Given the description of an element on the screen output the (x, y) to click on. 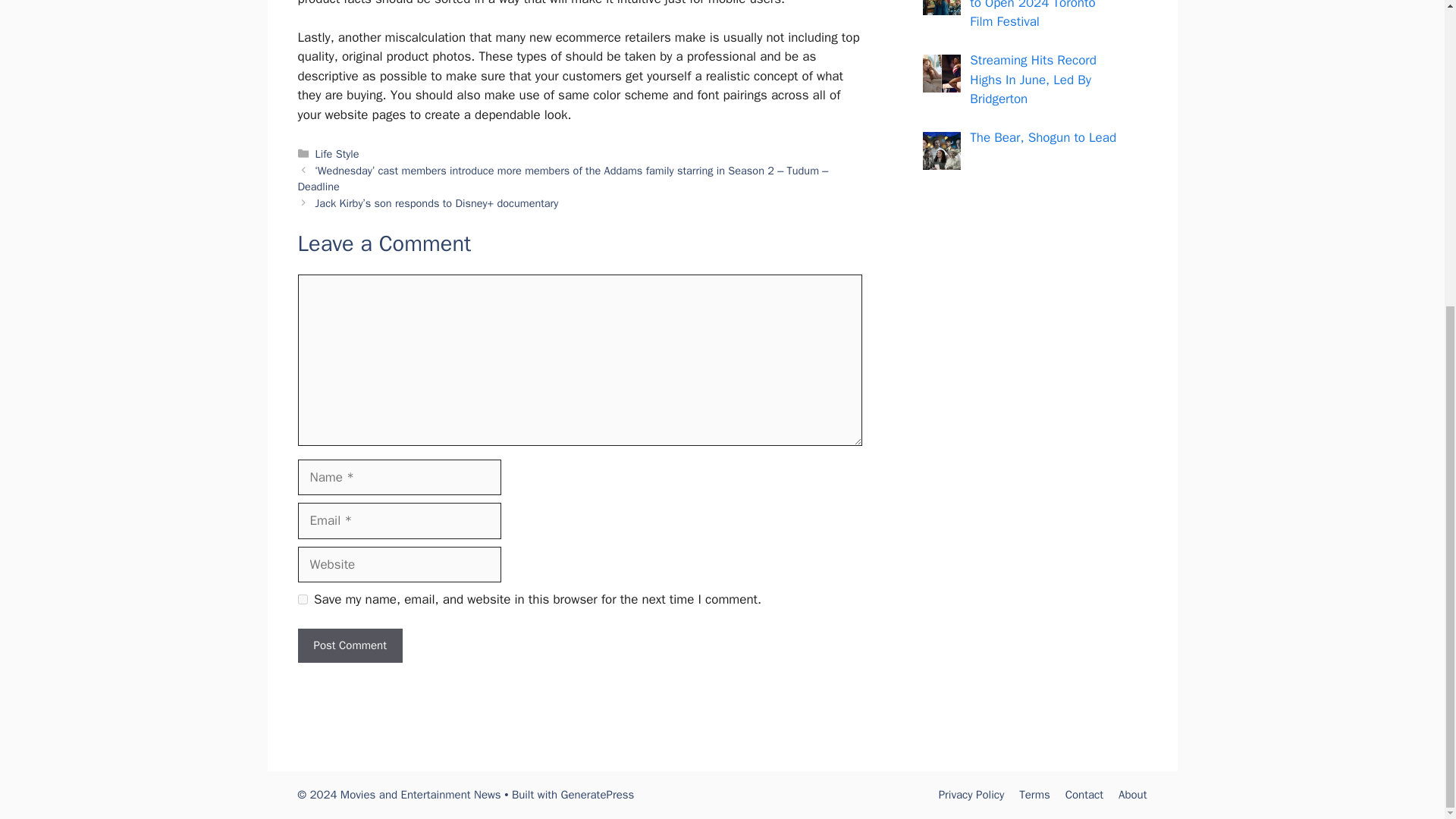
Post Comment (349, 645)
yes (302, 599)
Post Comment (349, 645)
The Bear, Shogun to Lead (1042, 137)
Life Style (337, 153)
Terms (1034, 794)
About (1132, 794)
Privacy Policy (971, 794)
Contact (1084, 794)
Streaming Hits Record Highs In June, Led By Bridgerton (1032, 79)
Advertisement (1018, 482)
GeneratePress (597, 794)
